Given the description of an element on the screen output the (x, y) to click on. 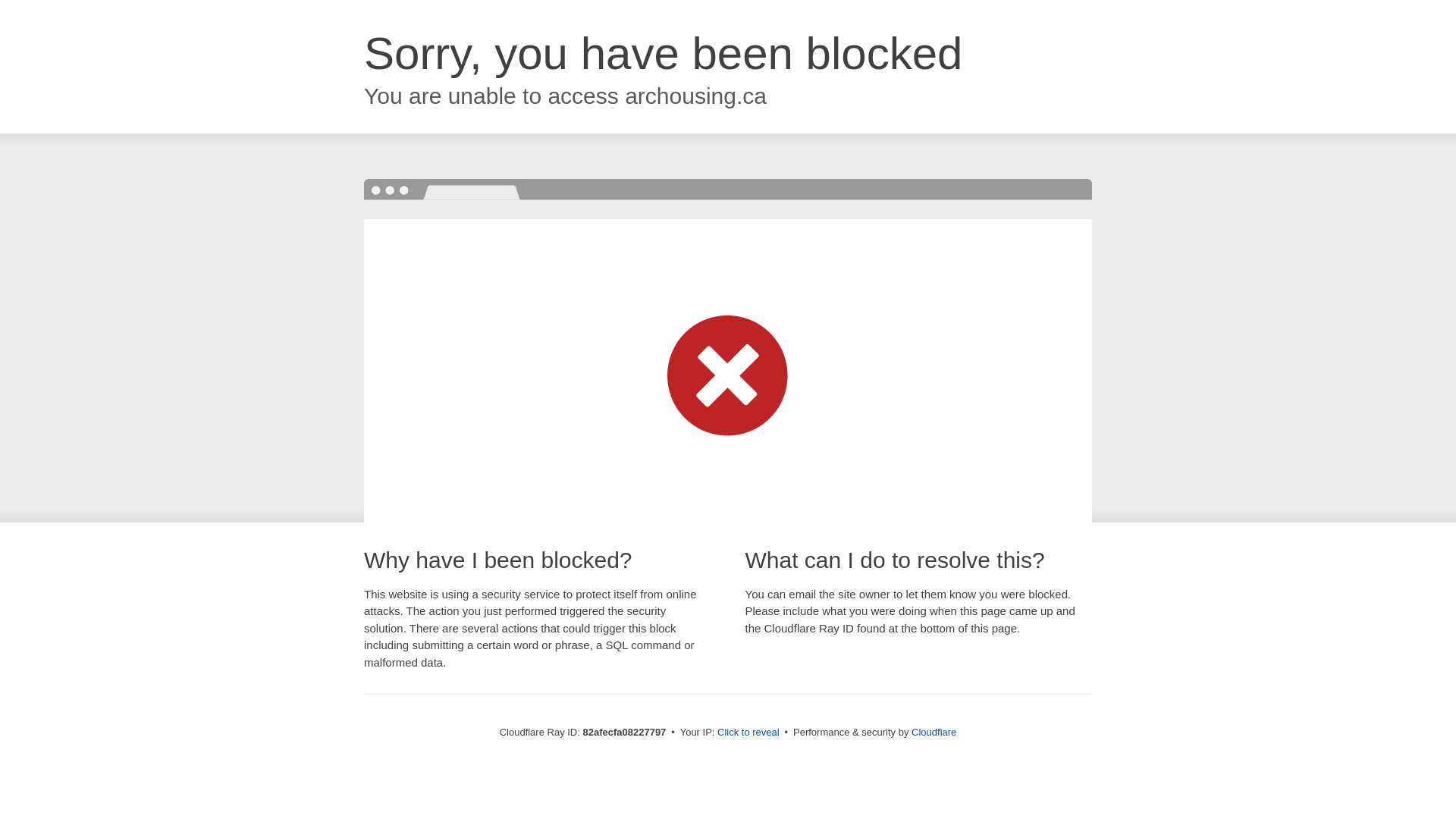
Click to reveal Element type: text (748, 732)
Cloudflare Element type: text (933, 731)
